Given the description of an element on the screen output the (x, y) to click on. 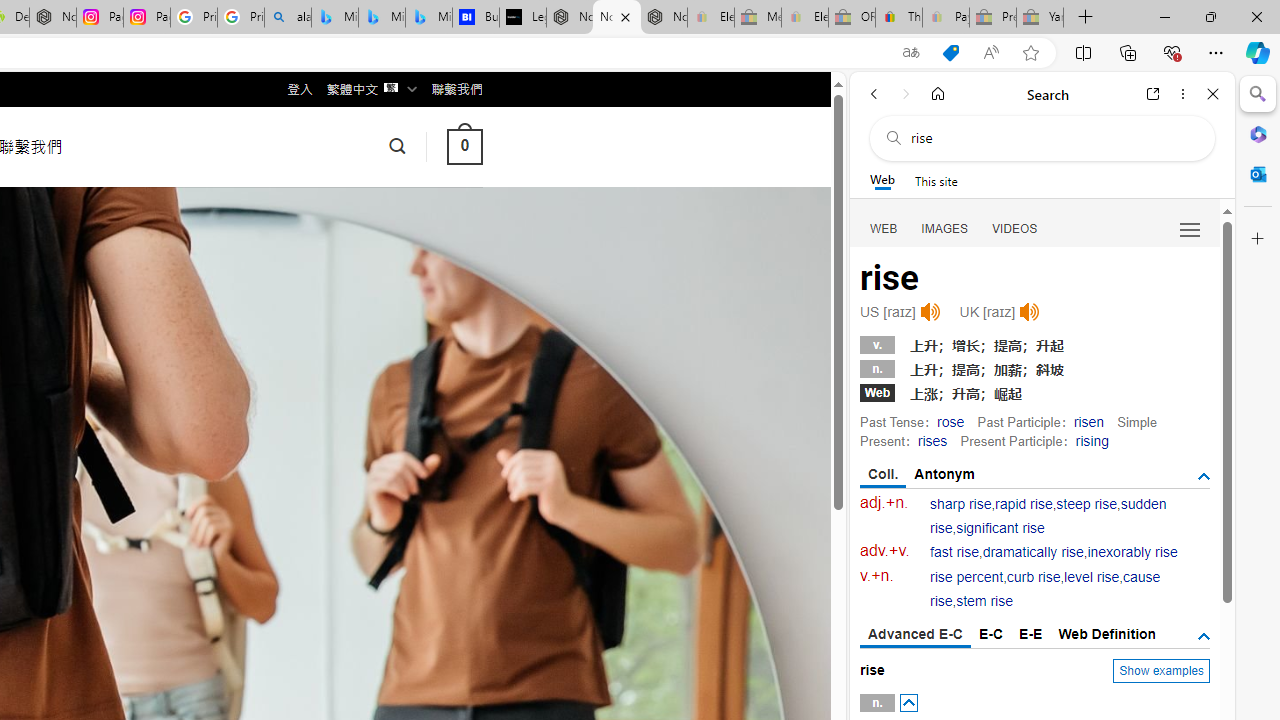
Show translate options (910, 53)
E-E (1030, 633)
alabama high school quarterback dies - Search (288, 17)
Web Definition (1106, 633)
rises (932, 440)
